Given the description of an element on the screen output the (x, y) to click on. 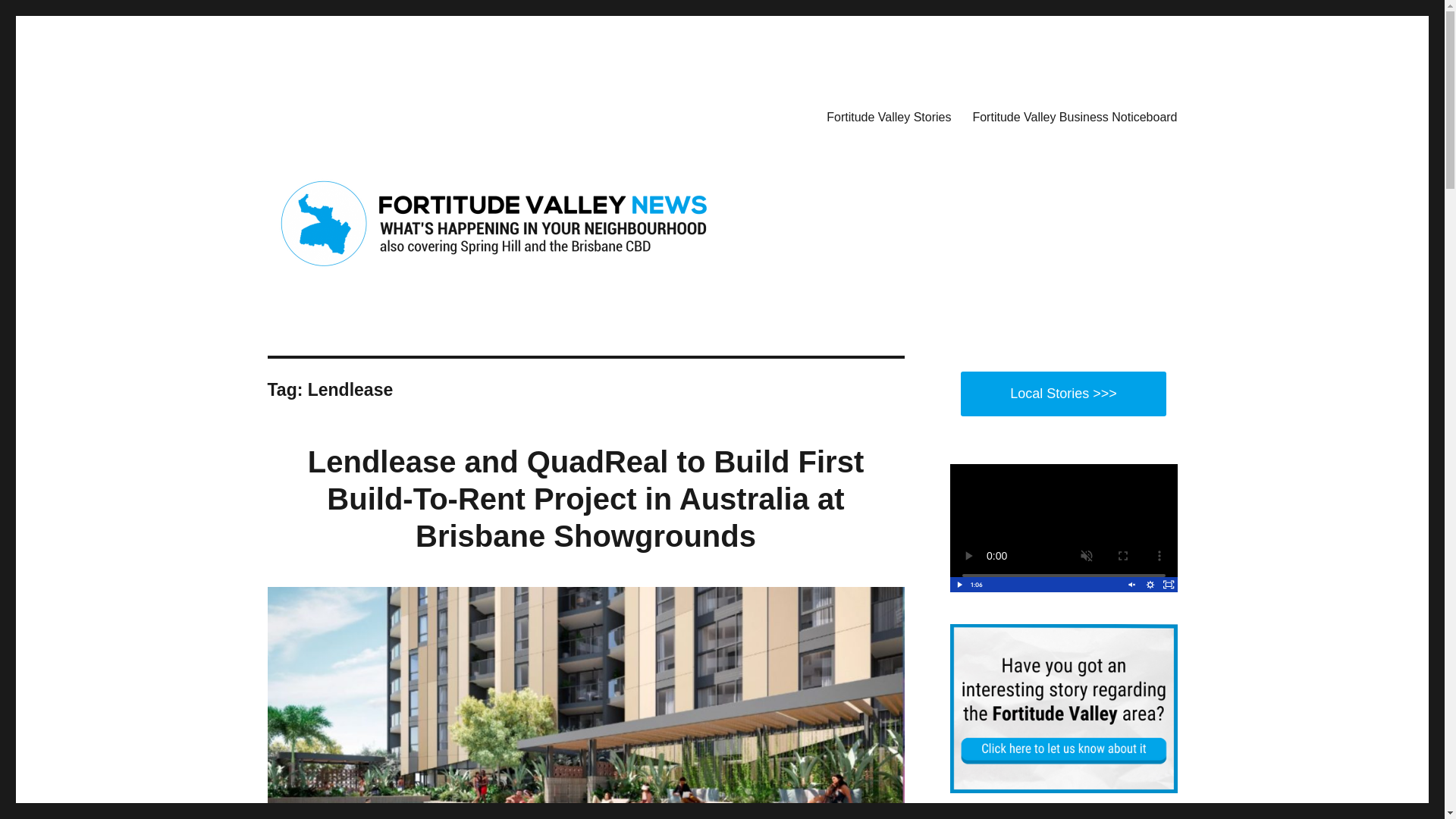
Fortitude Valley News (376, 114)
Fortitude Valley Business Noticeboard (1074, 116)
Show settings menu (1149, 584)
Fortitude Valley Stories (887, 116)
